Given the description of an element on the screen output the (x, y) to click on. 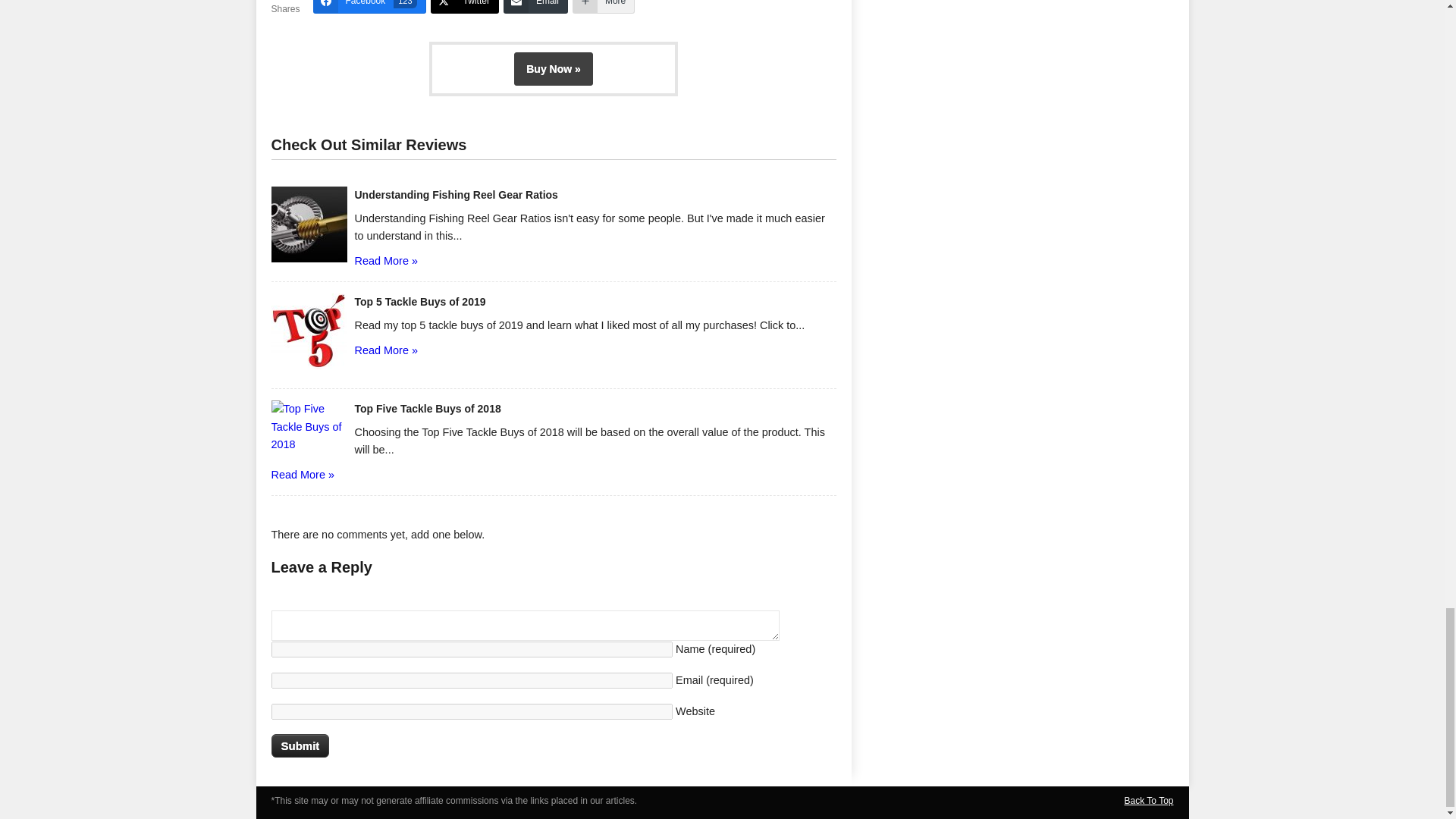
Top Five Tackle Buys of 2018 (427, 408)
Back To Top (1148, 800)
Submit (300, 745)
Twitter (464, 6)
Understanding Fishing Reel Gear Ratios (369, 6)
Submit (456, 194)
Email (300, 745)
Top 5 Tackle Buys of 2019 (535, 6)
More (420, 301)
